Given the description of an element on the screen output the (x, y) to click on. 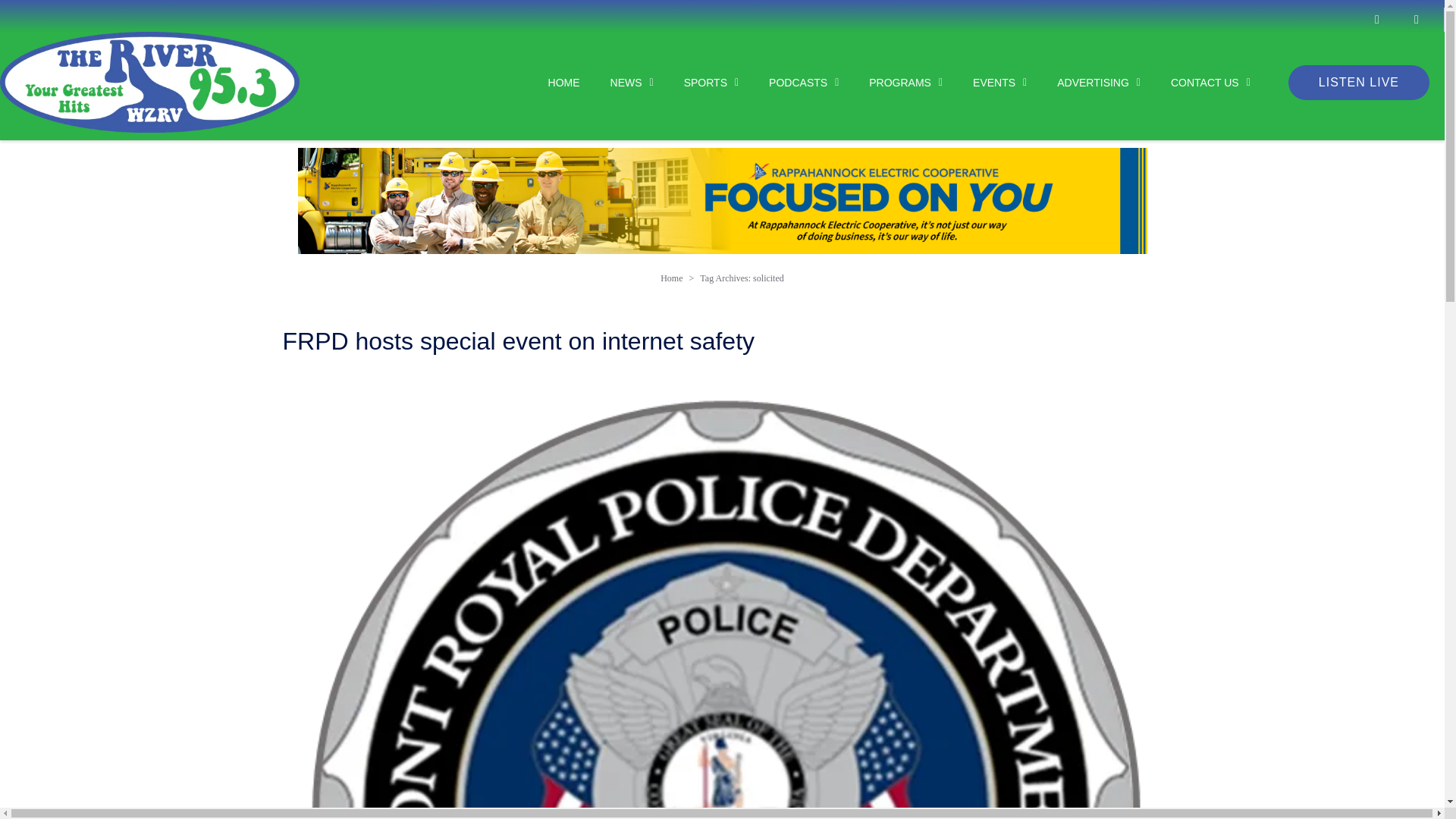
NEWS (616, 82)
PODCASTS (788, 82)
HOME (548, 82)
PROGRAMS (890, 82)
SPORTS (695, 82)
FRPD hosts special event on internet safety (721, 799)
FRPD hosts special event on internet safety (518, 340)
